Given the description of an element on the screen output the (x, y) to click on. 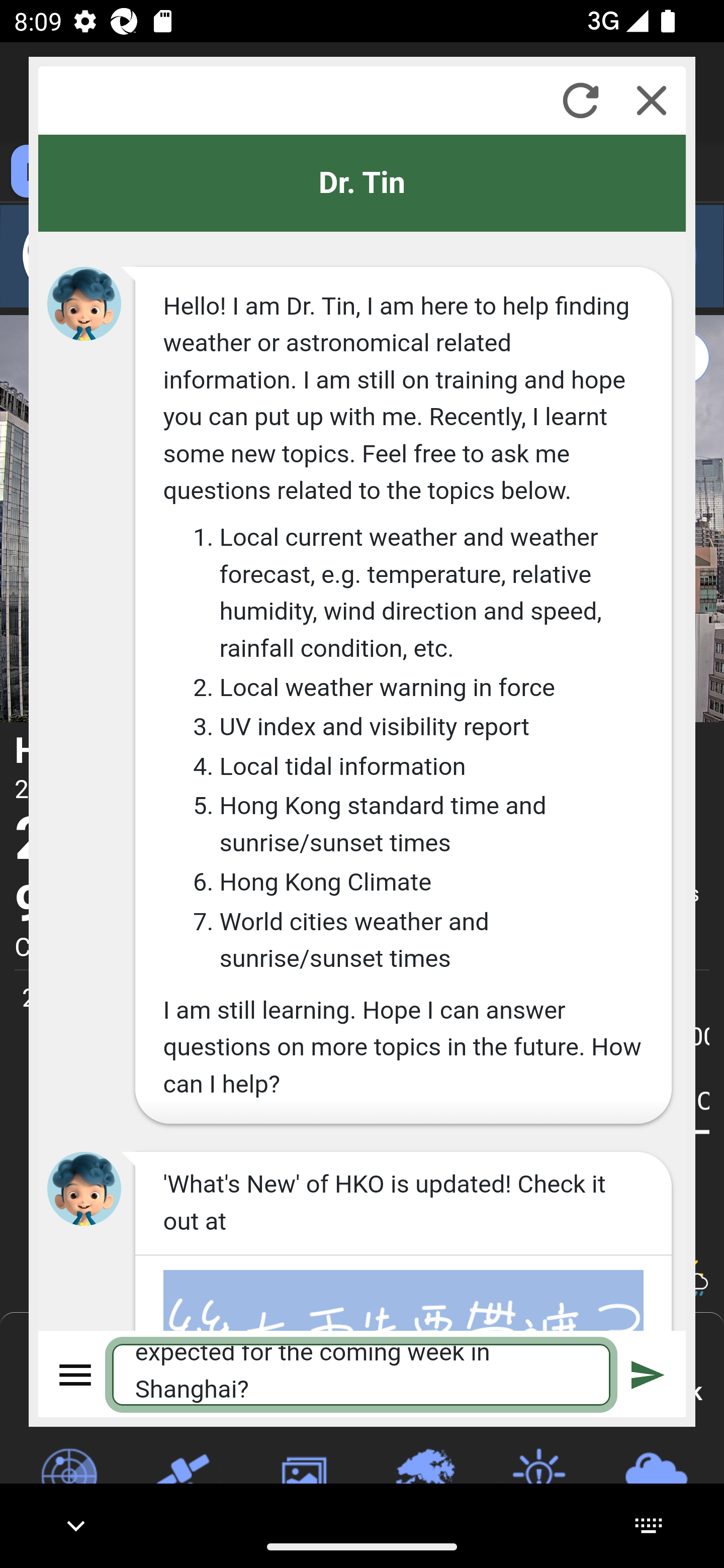
Refresh (580, 100)
Close (651, 100)
Menu (75, 1374)
Submit (648, 1374)
